Given the description of an element on the screen output the (x, y) to click on. 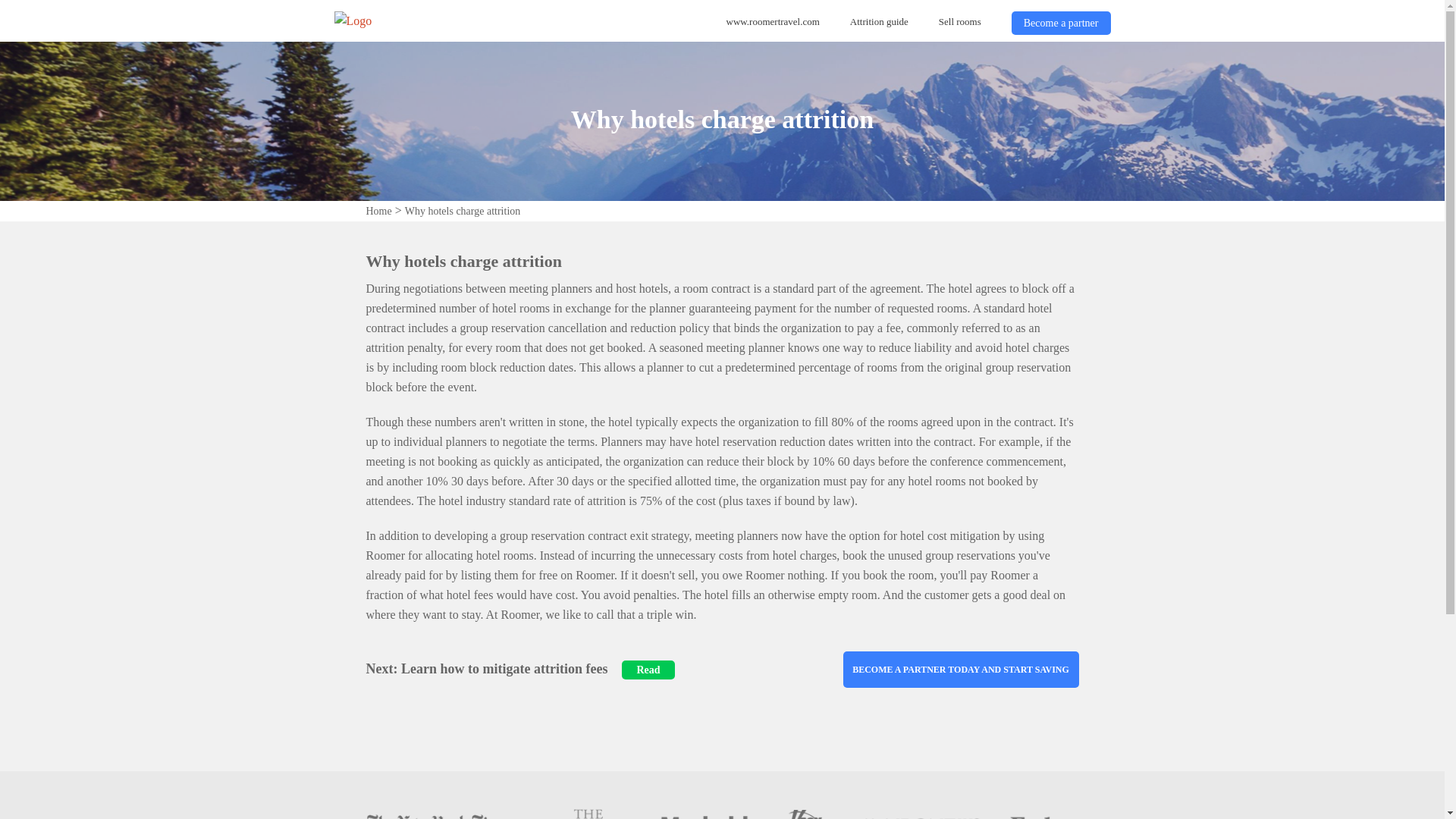
www.roomertravel.com (772, 21)
Read (642, 668)
Sell rooms (960, 21)
Home (378, 211)
Attrition guide (879, 21)
Why hotels charge attrition (462, 211)
Become a partner (1061, 22)
